Given the description of an element on the screen output the (x, y) to click on. 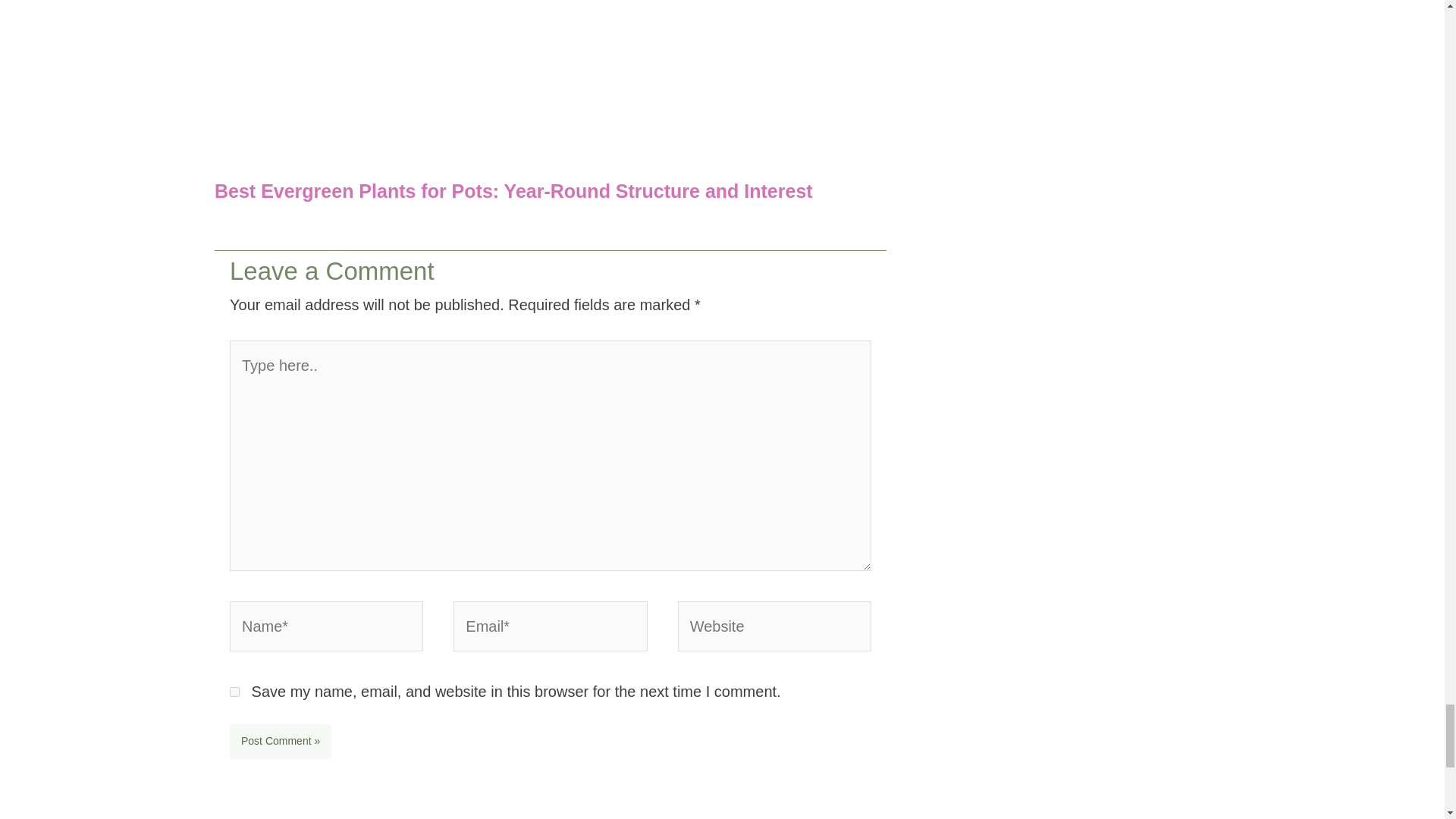
yes (235, 691)
